Given the description of an element on the screen output the (x, y) to click on. 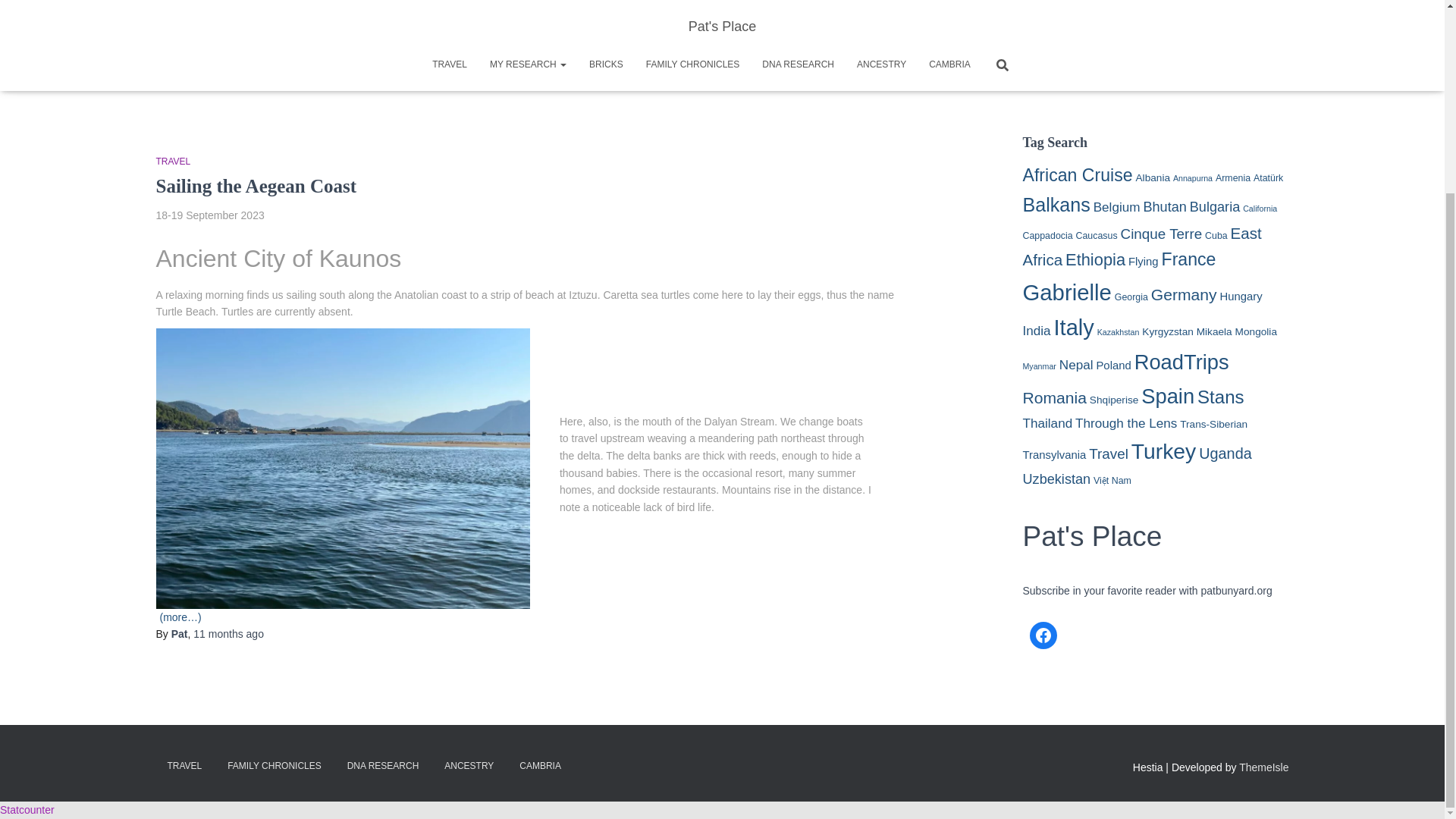
Armenia (1232, 177)
Pat (179, 633)
TRAVEL (172, 161)
African Cruise (1077, 175)
Sailing the Aegean Coast (255, 186)
Albania (1152, 177)
11 months ago (228, 633)
Annapurna (1192, 177)
